Given the description of an element on the screen output the (x, y) to click on. 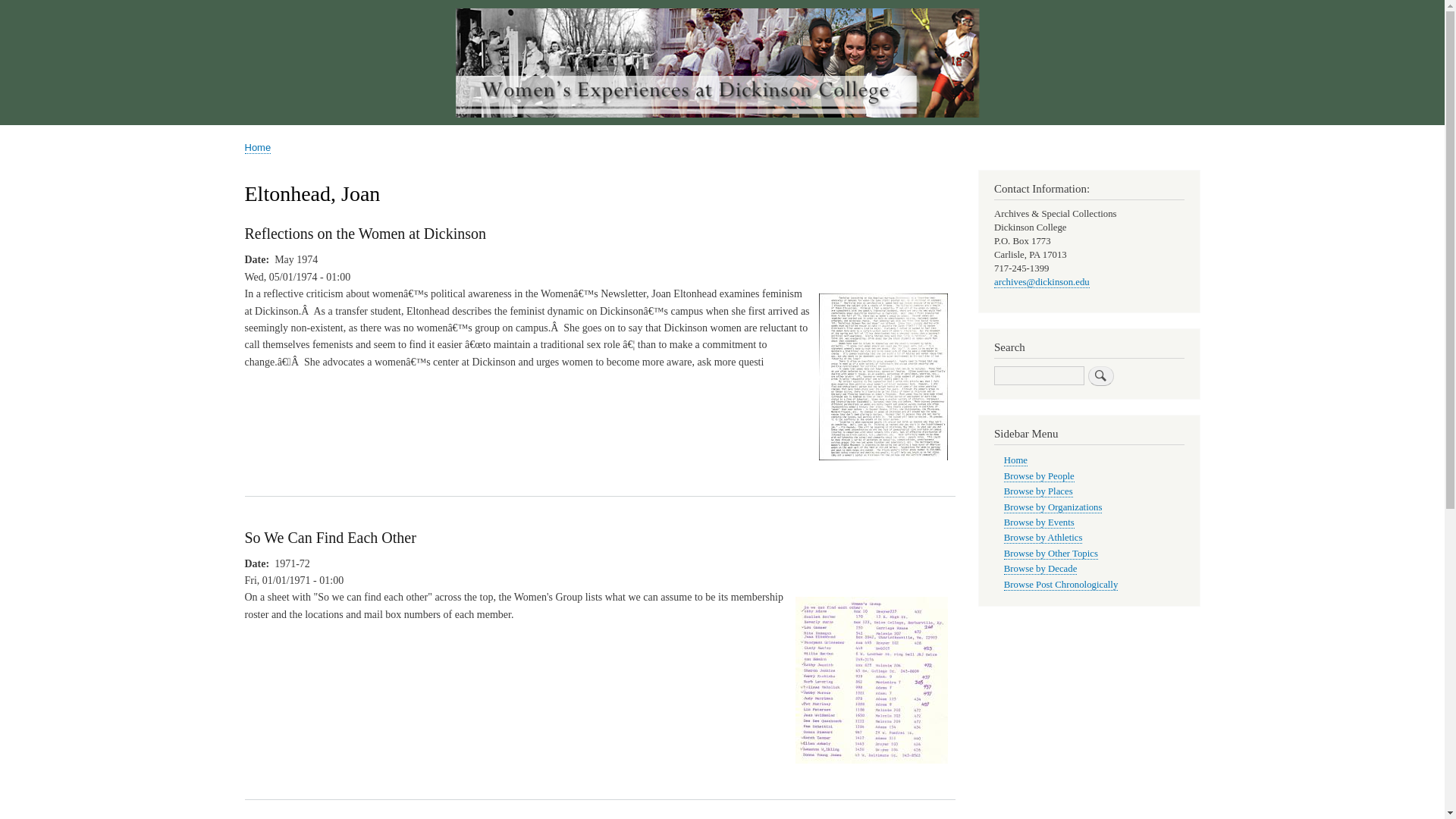
Search (1100, 375)
Browse by Other Topics (1050, 553)
Browse by Decade (1040, 568)
Browse by Events (1039, 522)
Skip to main content (722, 1)
Browse by Places (1038, 491)
Search (1100, 375)
Browse by People (1039, 476)
Reflections on the Women at Dickinson (882, 467)
Home (1015, 460)
